Given the description of an element on the screen output the (x, y) to click on. 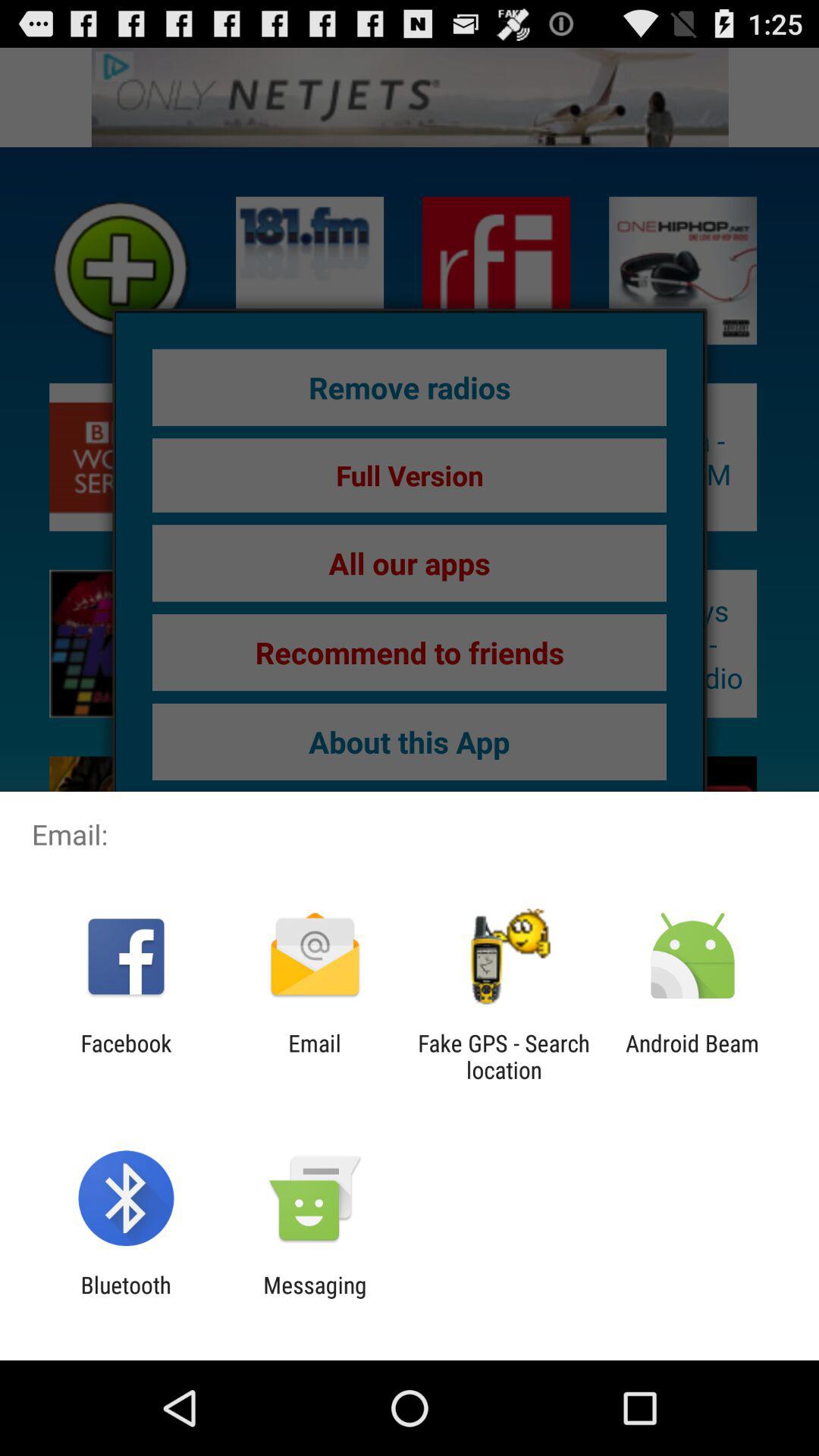
launch messaging icon (314, 1298)
